Given the description of an element on the screen output the (x, y) to click on. 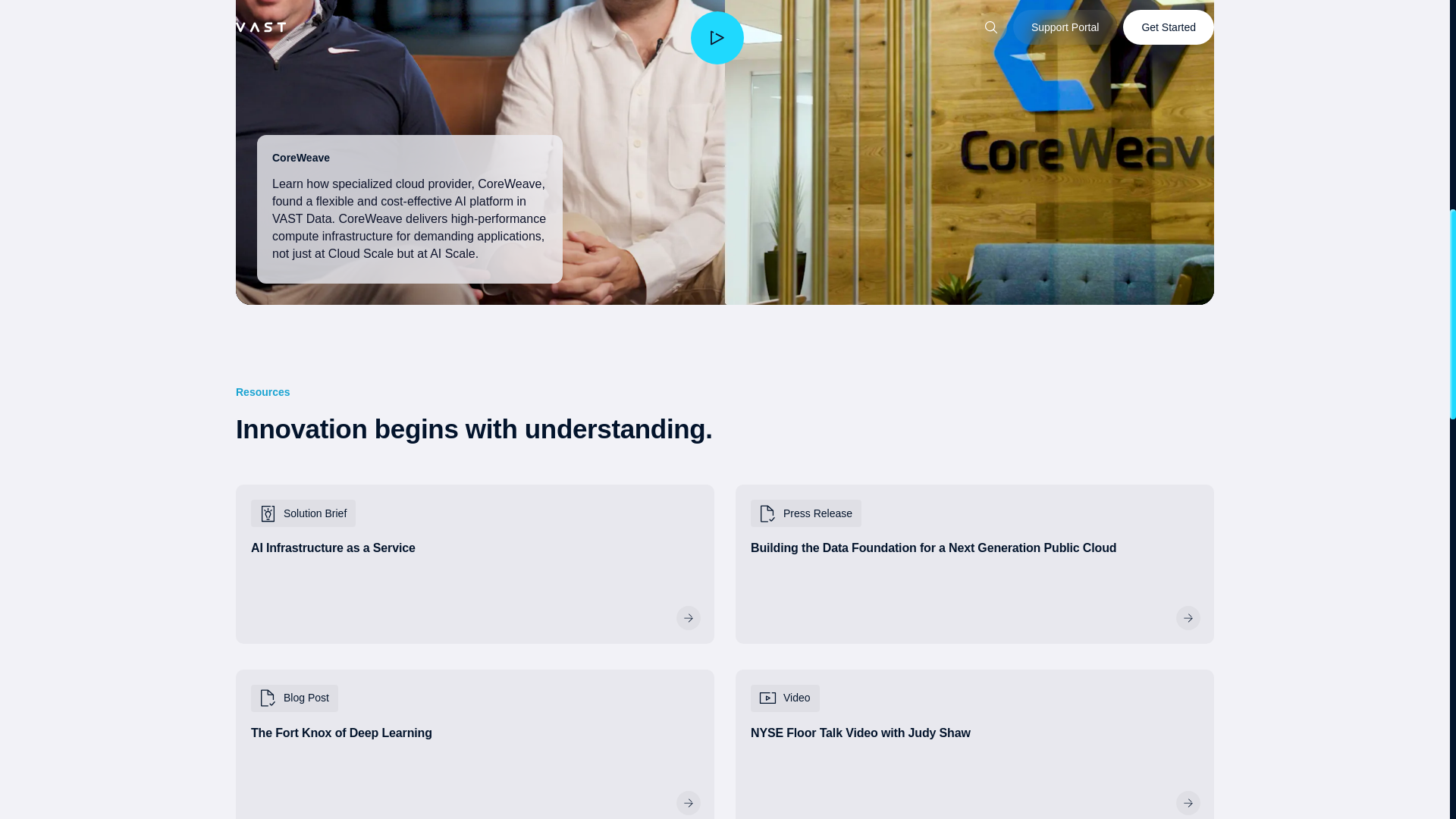
Play Video (974, 744)
Play Video (717, 37)
